Given the description of an element on the screen output the (x, y) to click on. 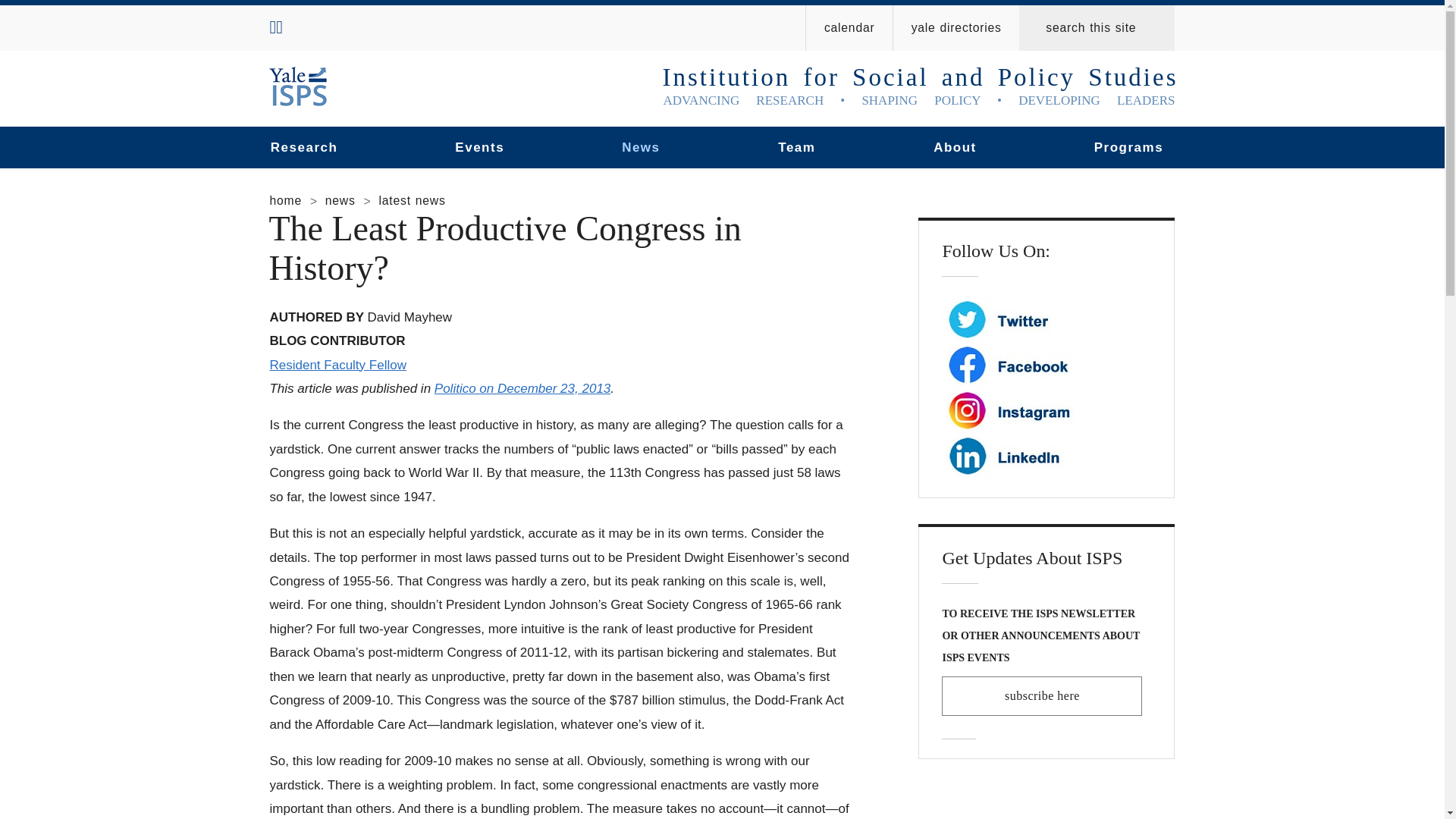
Skip to main content (586, 4)
Institution for Social and Policy Studies (919, 92)
yale directories (956, 27)
calendar (849, 27)
About (954, 147)
News (640, 147)
Research (304, 147)
Institution for Social and Policy Studies (299, 86)
Home (919, 92)
Enter the terms you wish to search for. (1102, 27)
Events (479, 147)
